Given the description of an element on the screen output the (x, y) to click on. 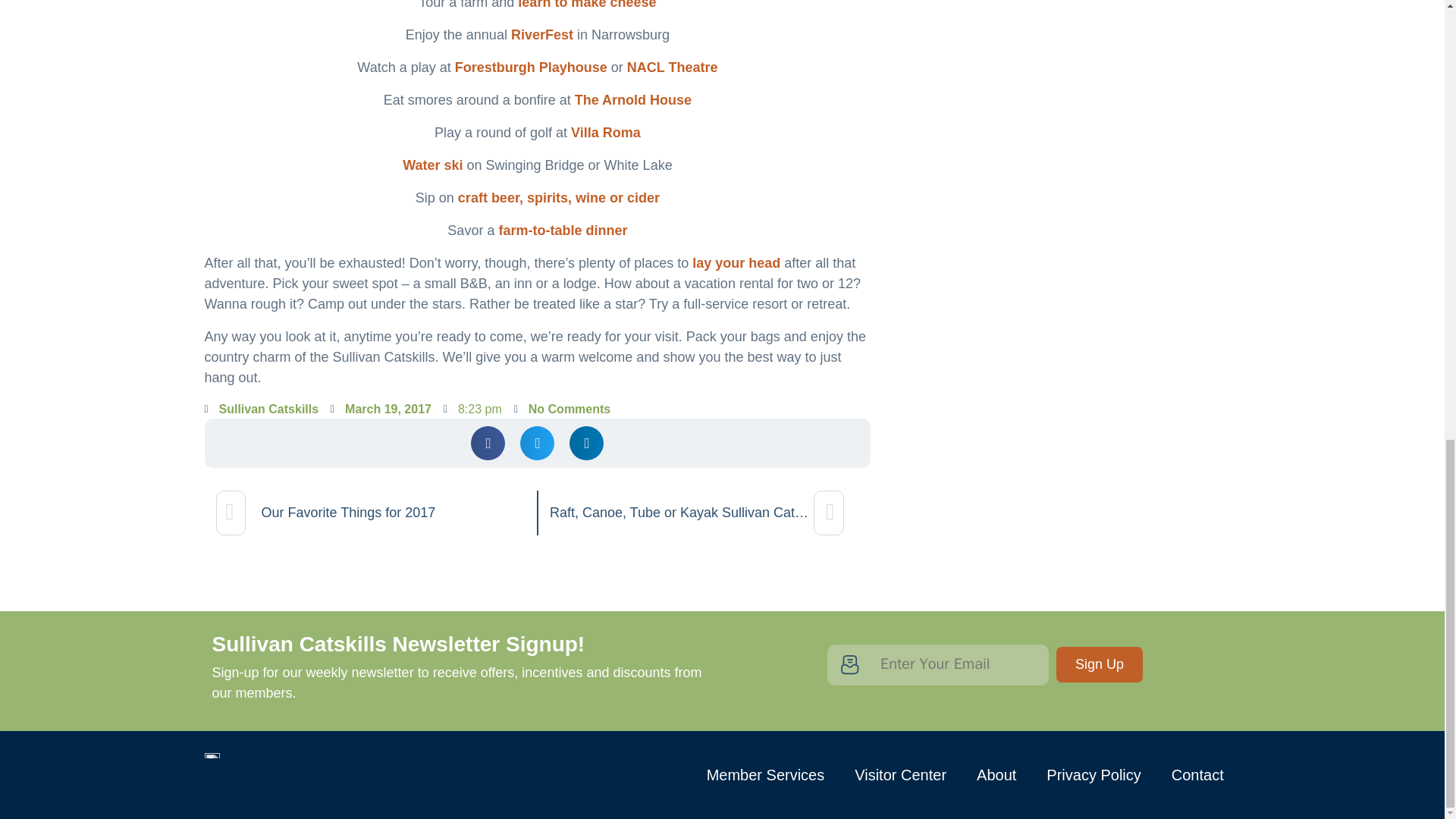
Villa Roma (605, 132)
The Arnold House (633, 99)
learn to make cheese (587, 4)
craft beer, spirits, wine or cider (558, 197)
Our Favorite Things for 2017 (369, 512)
Water ski (433, 165)
No Comments (561, 409)
lay your head (736, 263)
March 19, 2017 (380, 409)
Sign Up (1099, 664)
